Given the description of an element on the screen output the (x, y) to click on. 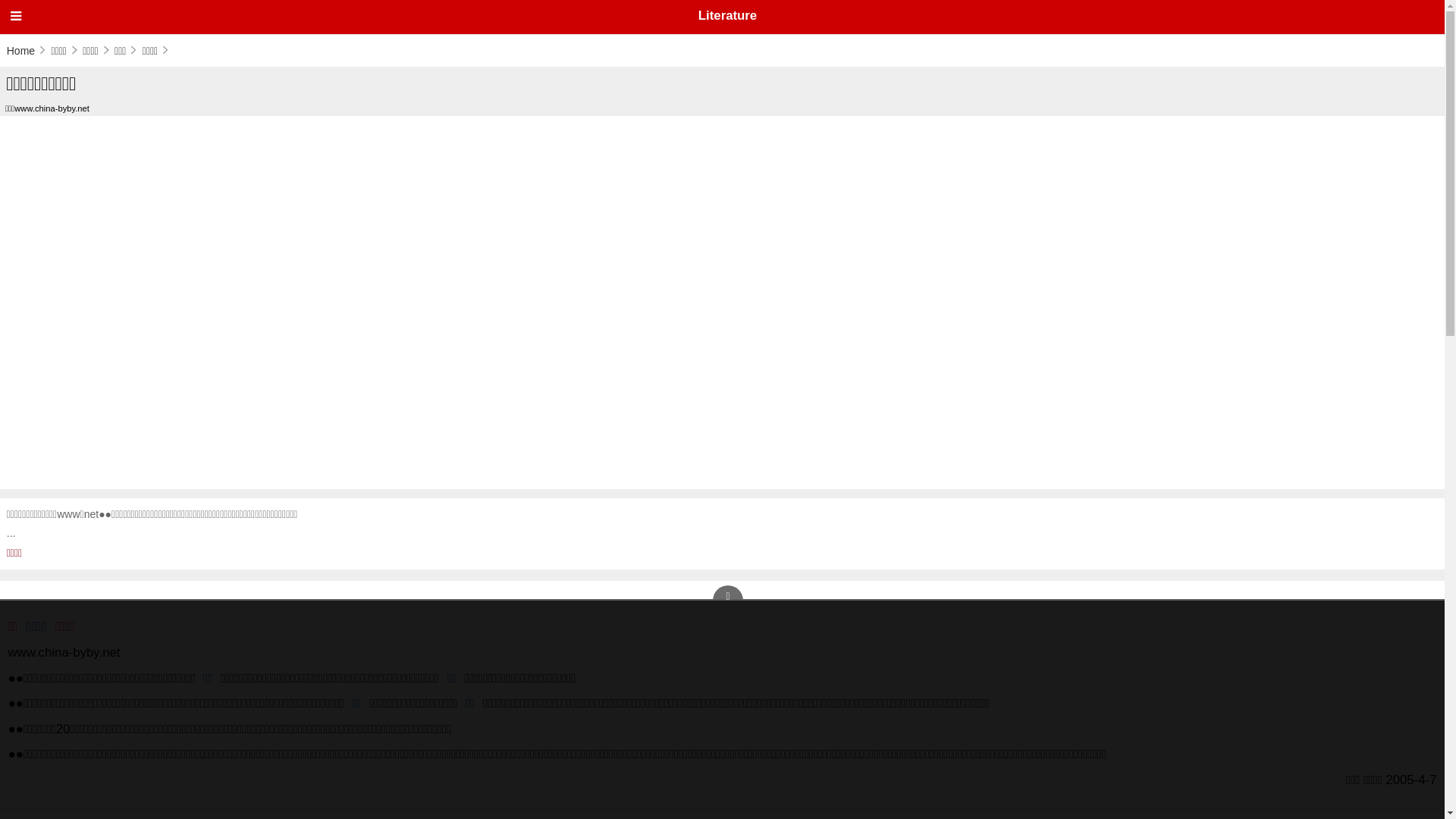
Home Element type: text (26, 49)
